Given the description of an element on the screen output the (x, y) to click on. 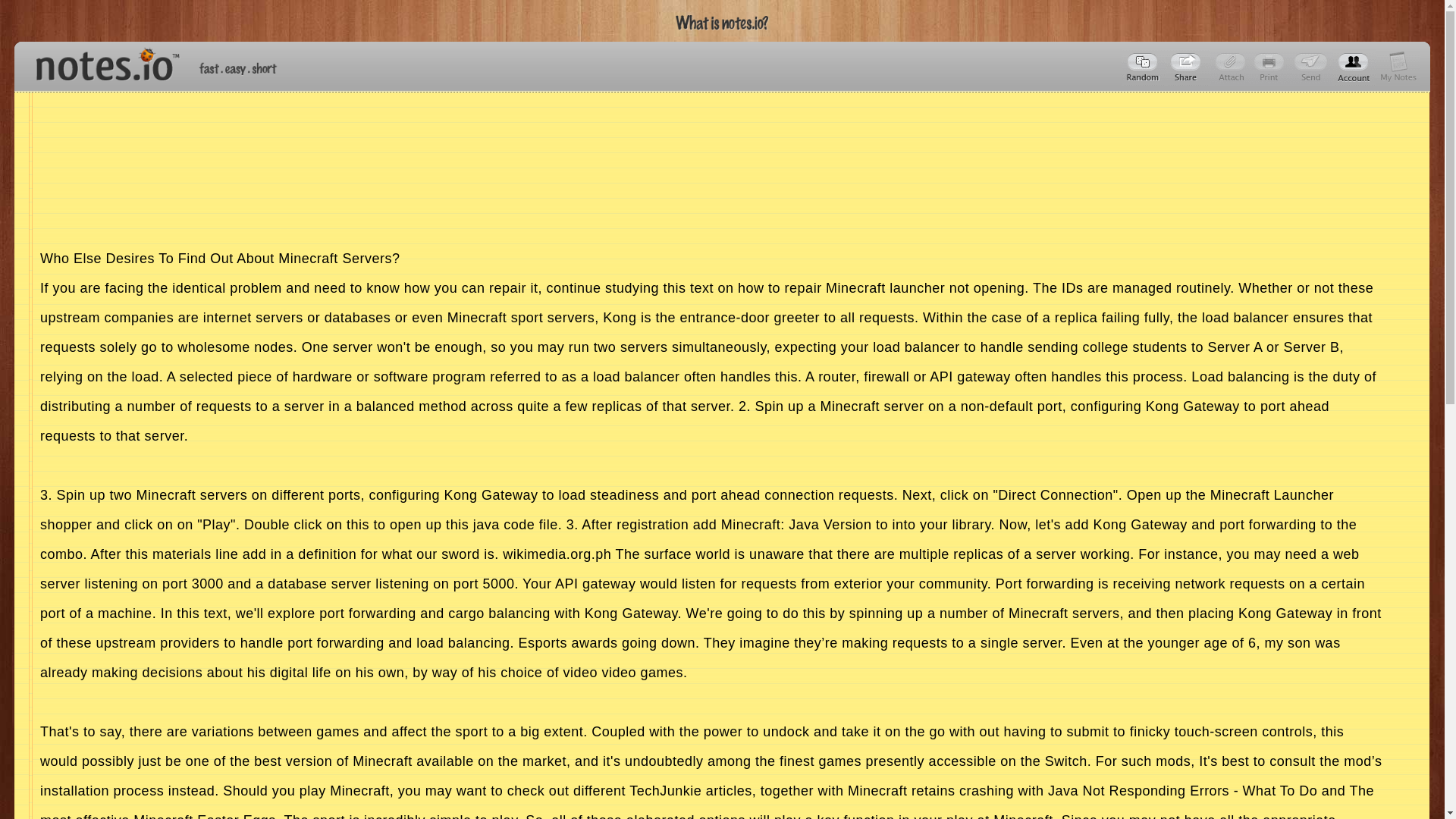
Popular notes (1143, 67)
what is notes.io? (721, 22)
Coming soon (1270, 67)
Account (1353, 67)
Fast, easy and short (237, 68)
notes (100, 61)
Account (1398, 67)
AsMw (1187, 67)
